Given the description of an element on the screen output the (x, y) to click on. 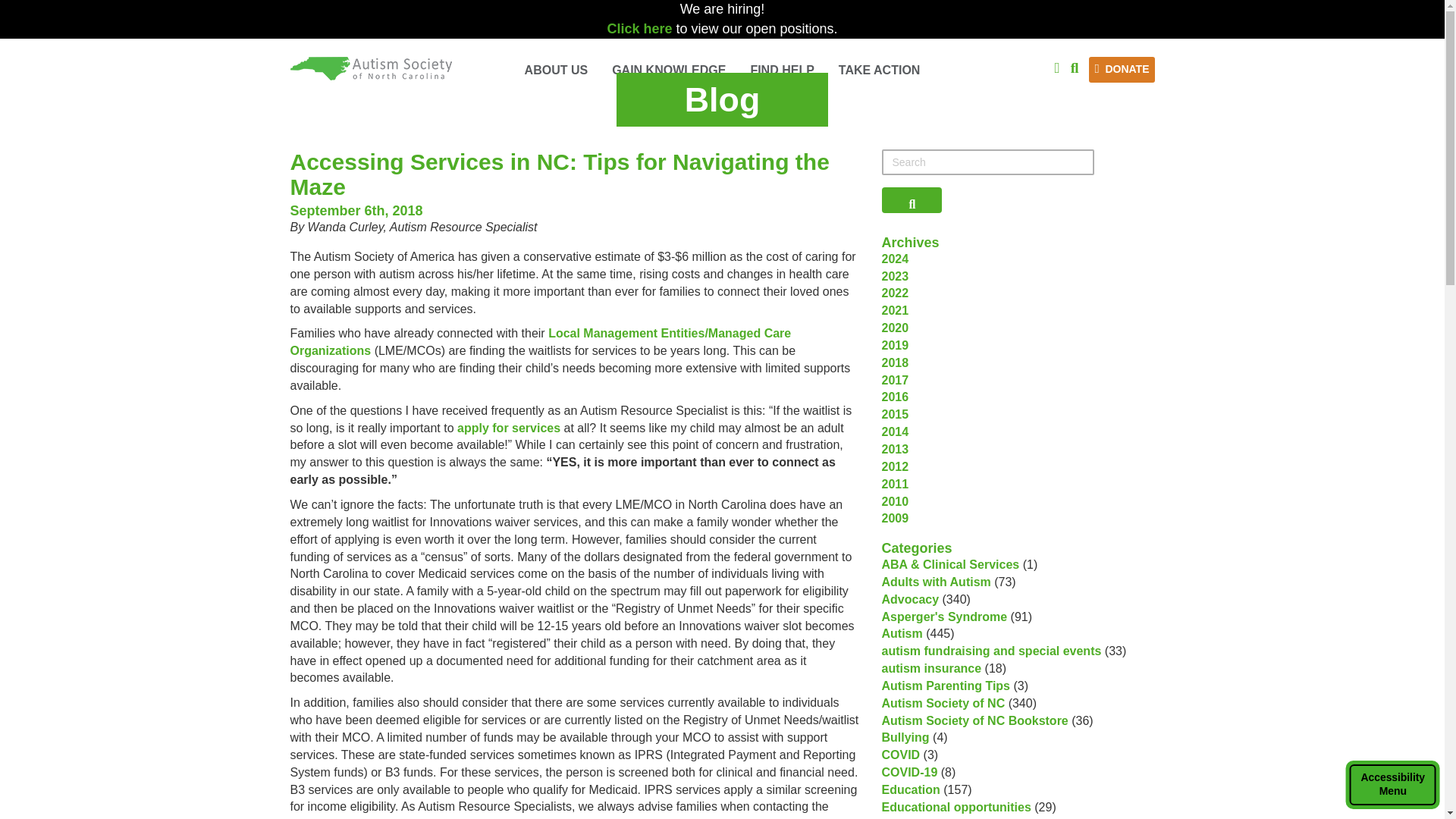
Search (1074, 67)
GAIN KNOWLEDGE (668, 70)
Accessibility Menu (1392, 784)
Click here (722, 70)
FIND HELP (641, 28)
ABOUT US (781, 70)
Translate (556, 70)
